Given the description of an element on the screen output the (x, y) to click on. 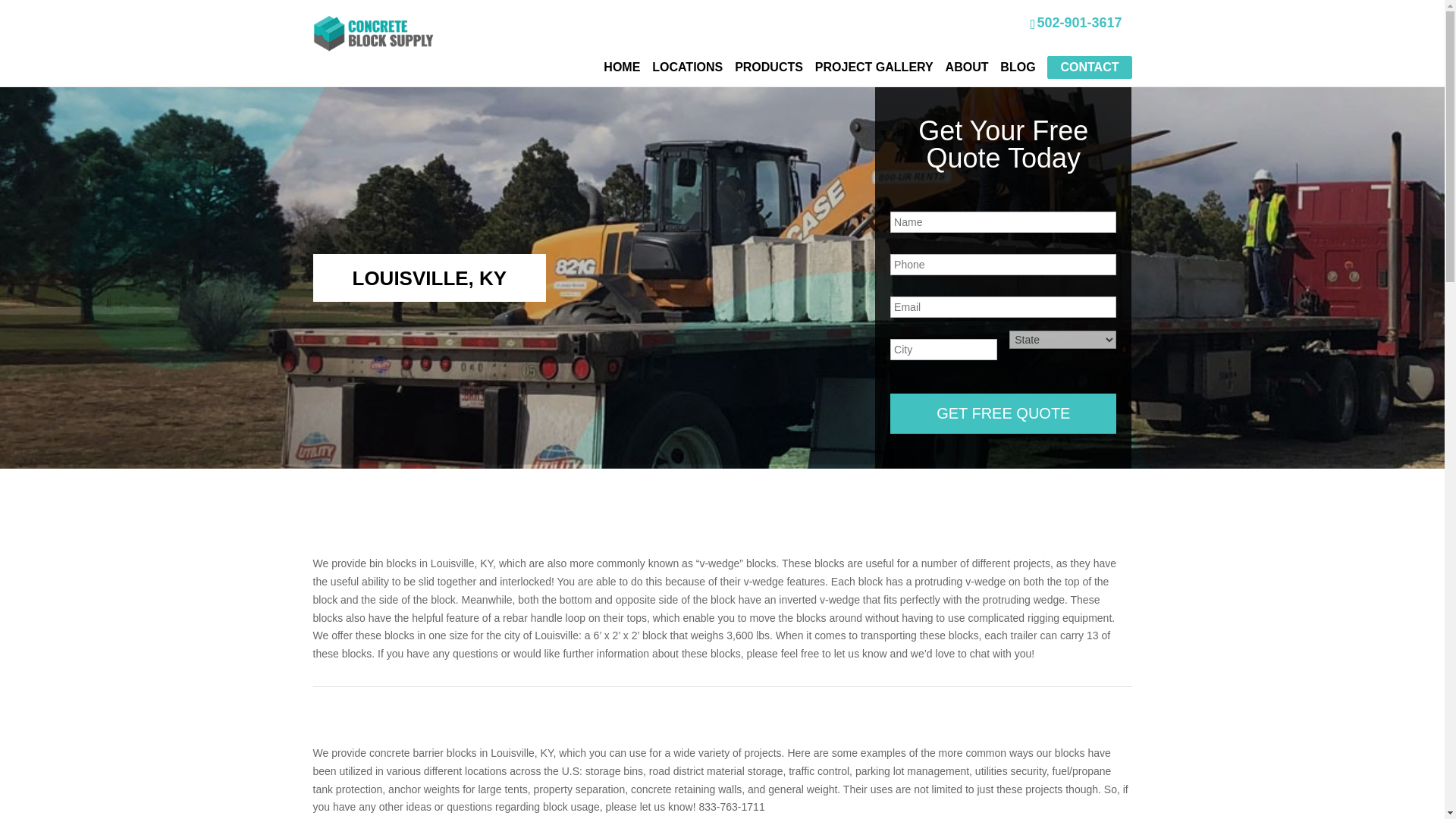
CONTACT (1088, 67)
BLOG (1017, 67)
GET FREE QUOTE (1002, 413)
PROJECT GALLERY (874, 67)
502-901-3617 (1076, 22)
GET FREE QUOTE (1002, 413)
HOME (622, 67)
LOCATIONS (687, 67)
PRODUCTS (769, 67)
ABOUT (966, 67)
